Given the description of an element on the screen output the (x, y) to click on. 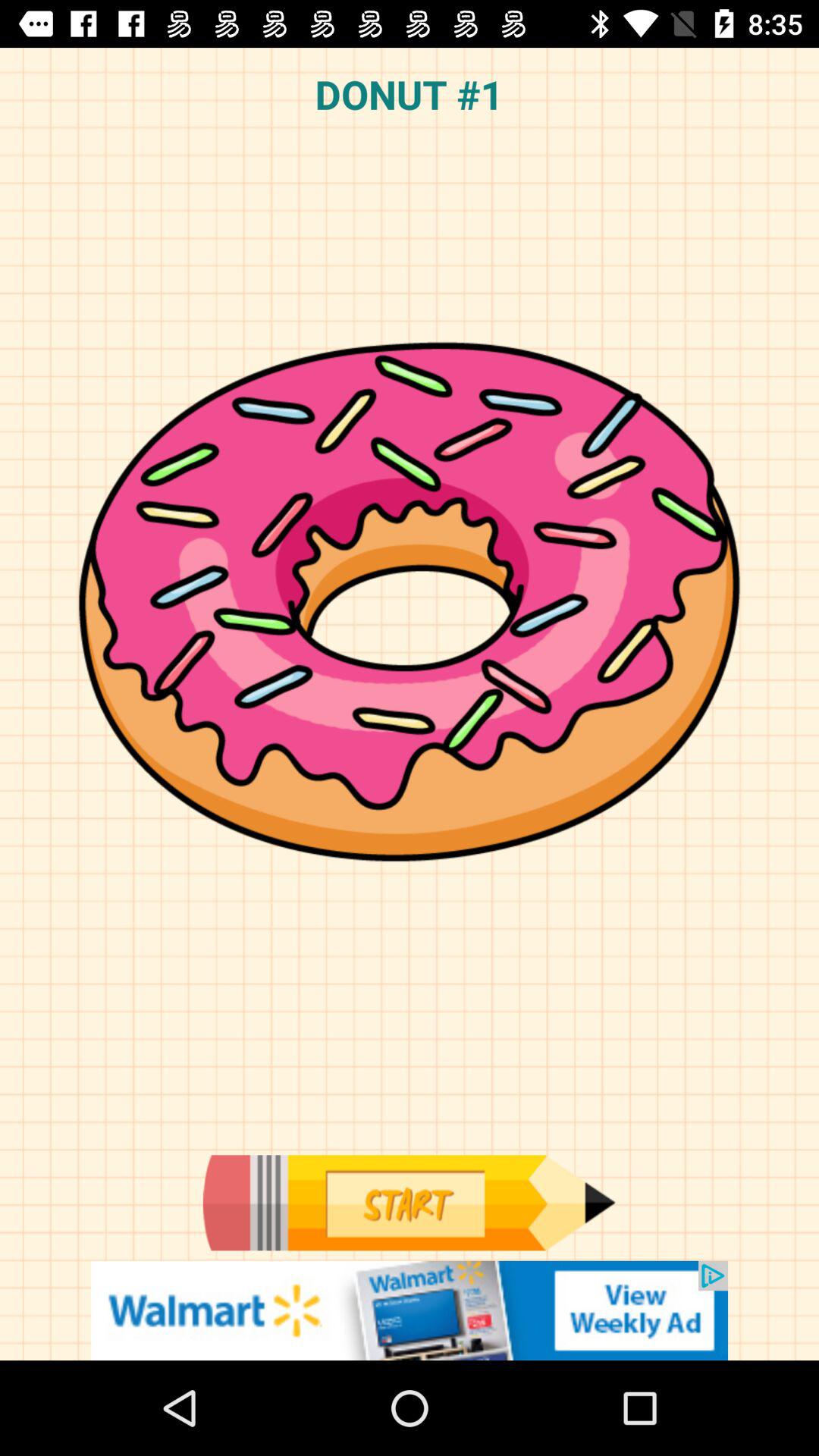
click to start (409, 1202)
